Given the description of an element on the screen output the (x, y) to click on. 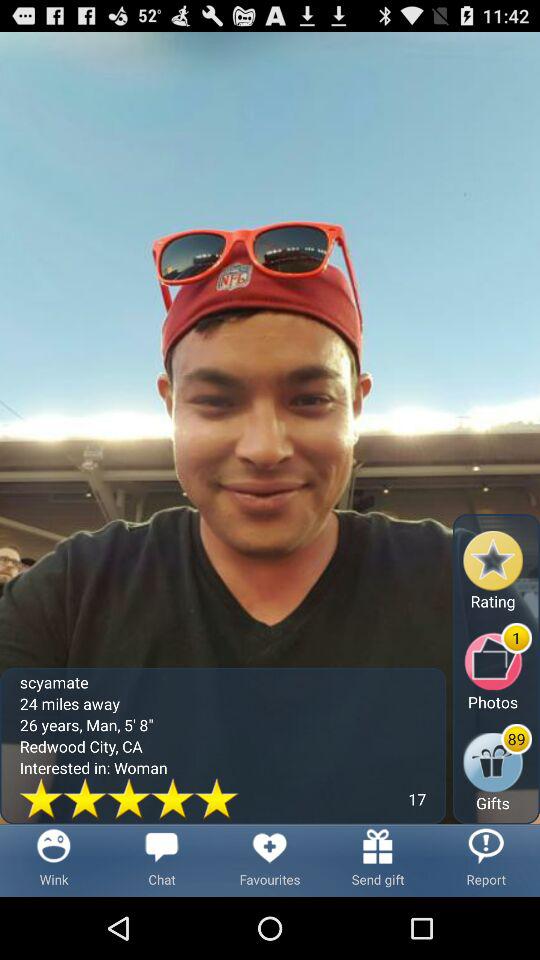
click the button next to the wink icon (162, 860)
